Given the description of an element on the screen output the (x, y) to click on. 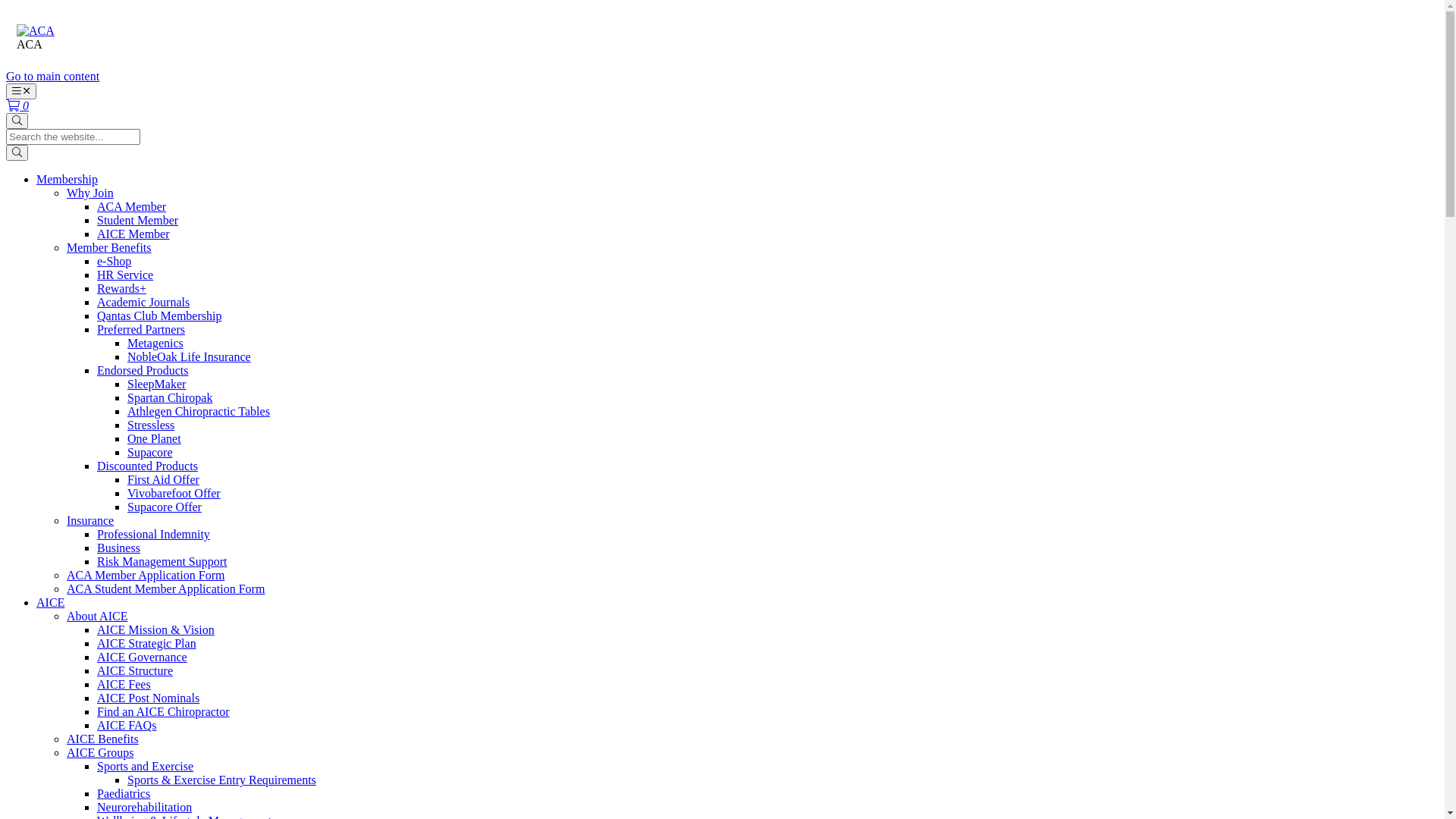
Sports & Exercise Entry Requirements Element type: text (221, 779)
Sports and Exercise Element type: text (145, 765)
Rewards+ Element type: text (121, 288)
Spartan Chiropak Element type: text (169, 397)
AICE Mission & Vision Element type: text (155, 629)
Neurorehabilitation Element type: text (144, 806)
Vivobarefoot Offer Element type: text (173, 492)
Insurance Element type: text (89, 520)
AICE Groups Element type: text (99, 752)
AICE Governance Element type: text (142, 656)
AICE FAQs Element type: text (126, 724)
About AICE Element type: text (96, 615)
Endorsed Products Element type: text (142, 370)
AICE Element type: text (50, 602)
ACA Member Application Form Element type: text (145, 574)
ACA Member Element type: text (131, 206)
AICE Member Element type: text (133, 233)
Go to main content Element type: text (52, 75)
e-Shop Element type: text (114, 260)
Why Join Element type: text (89, 192)
AICE Strategic Plan Element type: text (146, 643)
Preferred Partners Element type: text (141, 329)
Paediatrics Element type: text (123, 793)
Risk Management Support Element type: text (162, 561)
Academic Journals Element type: text (143, 301)
NobleOak Life Insurance Element type: text (189, 356)
Member Benefits Element type: text (108, 247)
Stressless Element type: text (150, 424)
Business Element type: text (118, 547)
HR Service Element type: text (125, 274)
Athlegen Chiropractic Tables Element type: text (198, 410)
Metagenics Element type: text (155, 342)
Discounted Products Element type: text (147, 465)
Find an AICE Chiropractor Element type: text (163, 711)
Supacore Offer Element type: text (164, 506)
Search Element type: text (17, 152)
Student Member Element type: text (137, 219)
AICE Structure Element type: text (134, 670)
View cart 0 Element type: text (17, 105)
AICE Benefits Element type: text (102, 738)
Membership Element type: text (66, 178)
One Planet Element type: text (154, 438)
Professional Indemnity Element type: text (153, 533)
AICE Fees Element type: text (123, 683)
ACA Student Member Application Form Element type: text (165, 588)
AICE Post Nominals Element type: text (148, 697)
Search Element type: text (17, 120)
Toggle menu Toggle menu Element type: text (21, 91)
First Aid Offer Element type: text (163, 479)
Qantas Club Membership Element type: text (159, 315)
Supacore Element type: text (149, 451)
SleepMaker Element type: text (156, 383)
